Given the description of an element on the screen output the (x, y) to click on. 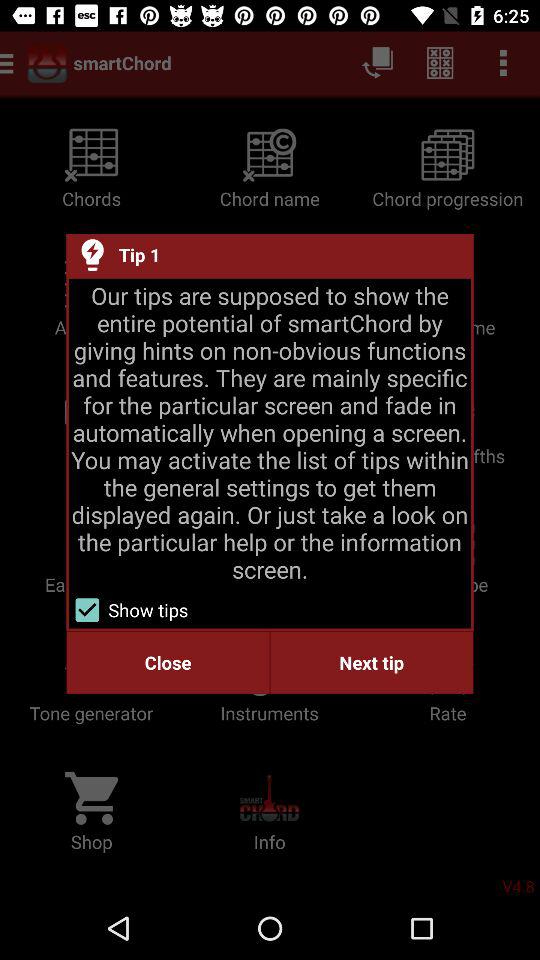
choose icon next to close item (371, 662)
